Given the description of an element on the screen output the (x, y) to click on. 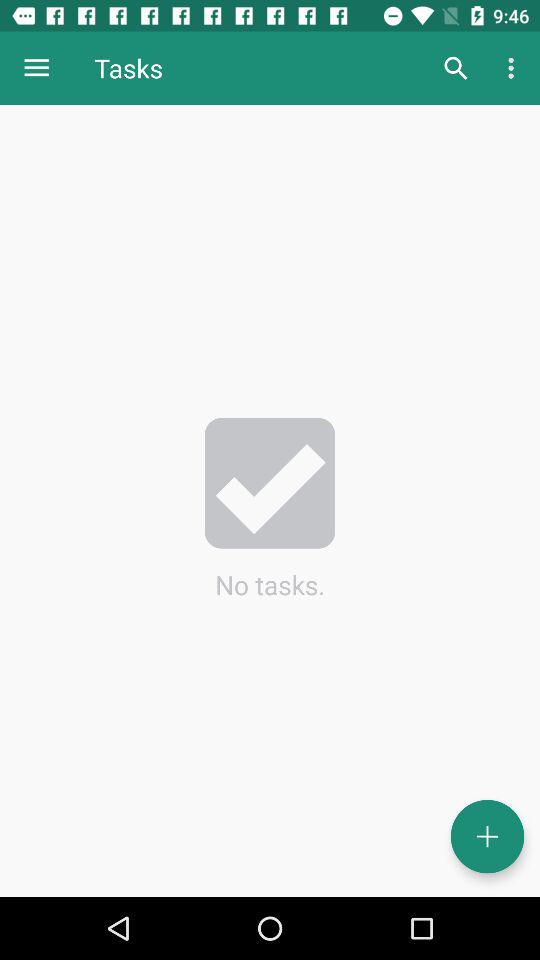
select item next to tasks icon (455, 67)
